Given the description of an element on the screen output the (x, y) to click on. 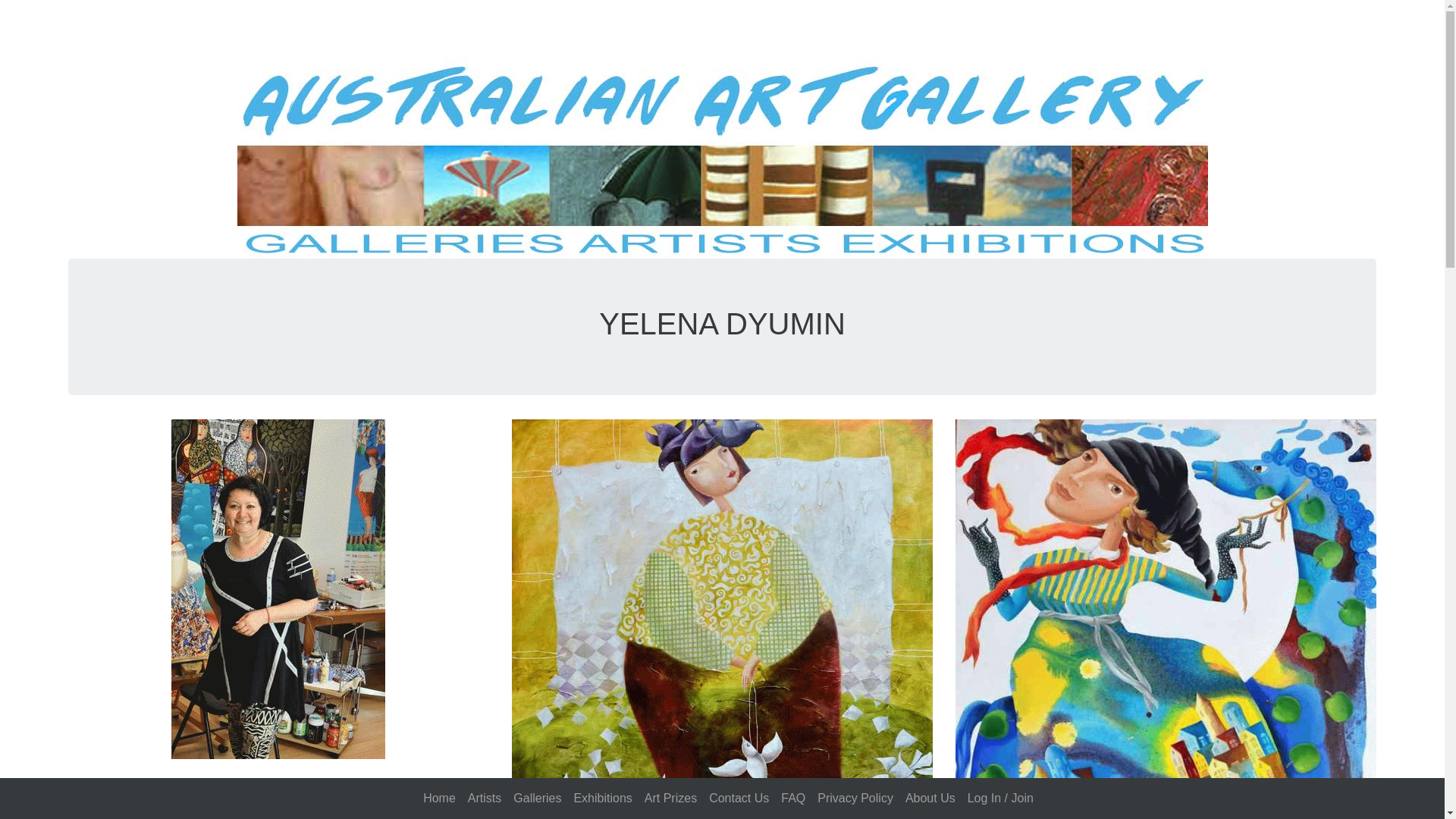
Privacy Policy (854, 798)
Australian Exhibitions (602, 798)
About Us (930, 798)
Australian Galleries (536, 798)
Contact Us (738, 798)
Log In (1000, 798)
Who are we? Where are we? (930, 798)
Home (439, 798)
Exhibitions (602, 798)
Australian Art Prizes (671, 798)
Introduction (439, 798)
Galleries (536, 798)
What information do we collect and what do we do with it. (854, 798)
Artists (483, 798)
Art Prizes (671, 798)
